Given the description of an element on the screen output the (x, y) to click on. 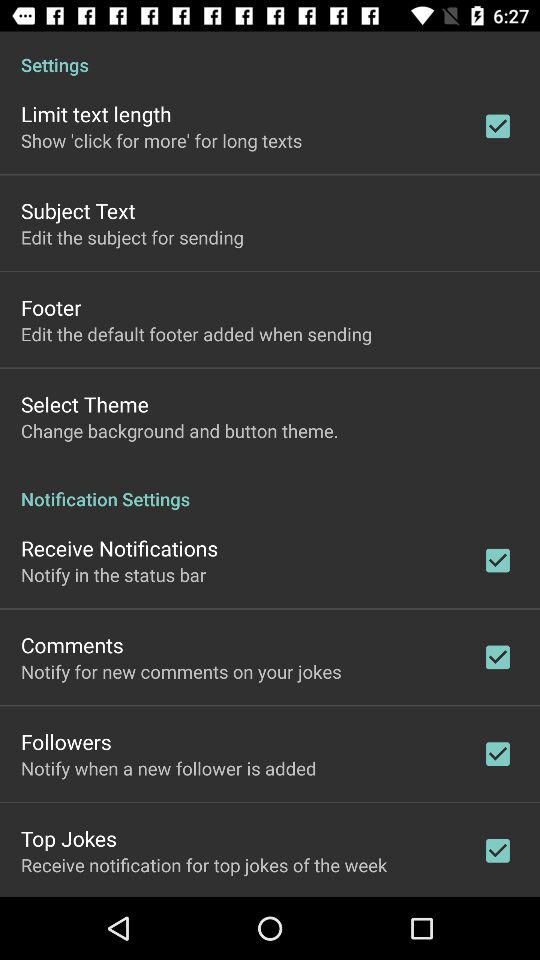
jump until the select theme icon (84, 404)
